Given the description of an element on the screen output the (x, y) to click on. 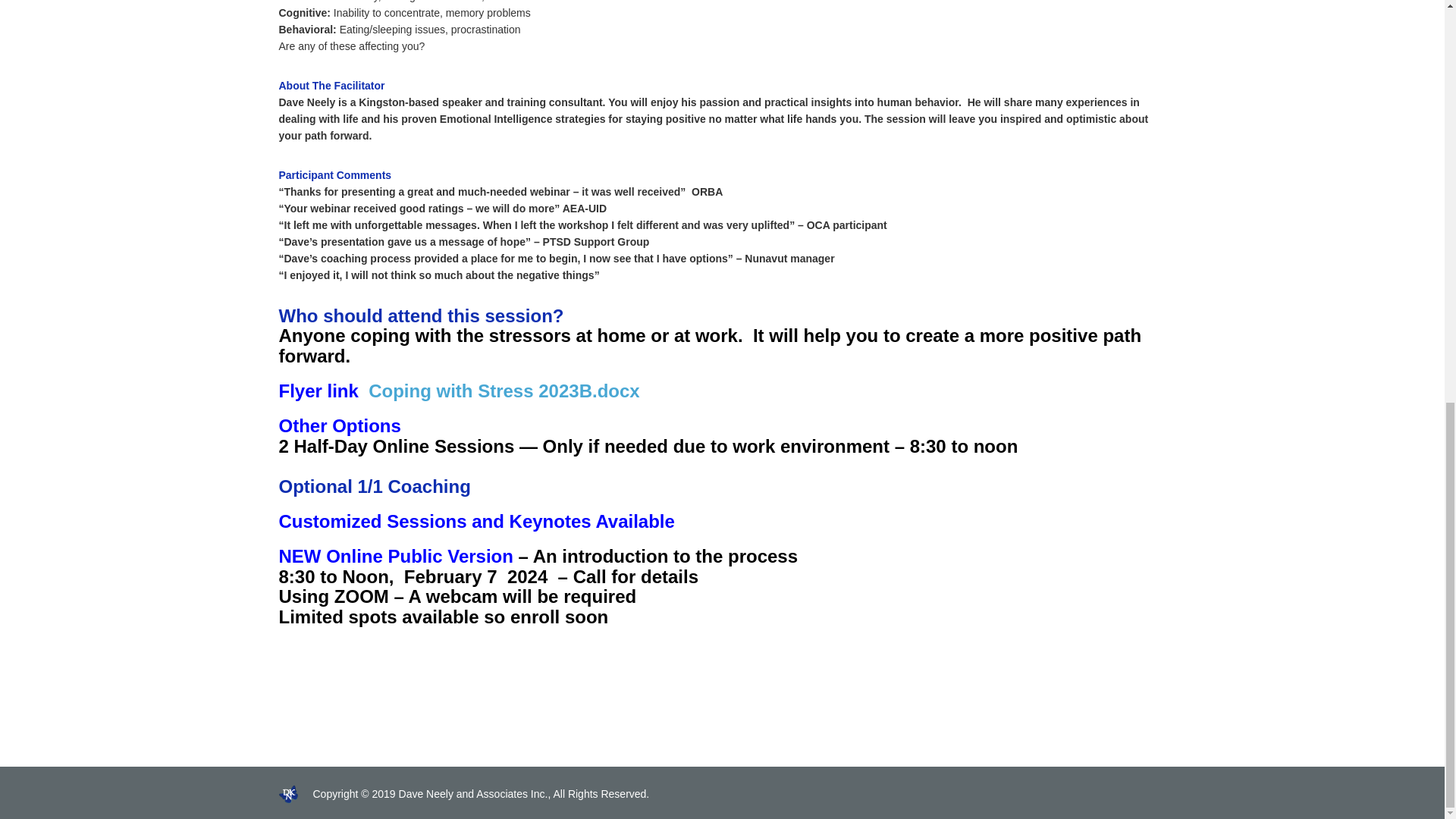
Coping with Stress 2023B.docx (503, 390)
